Given the description of an element on the screen output the (x, y) to click on. 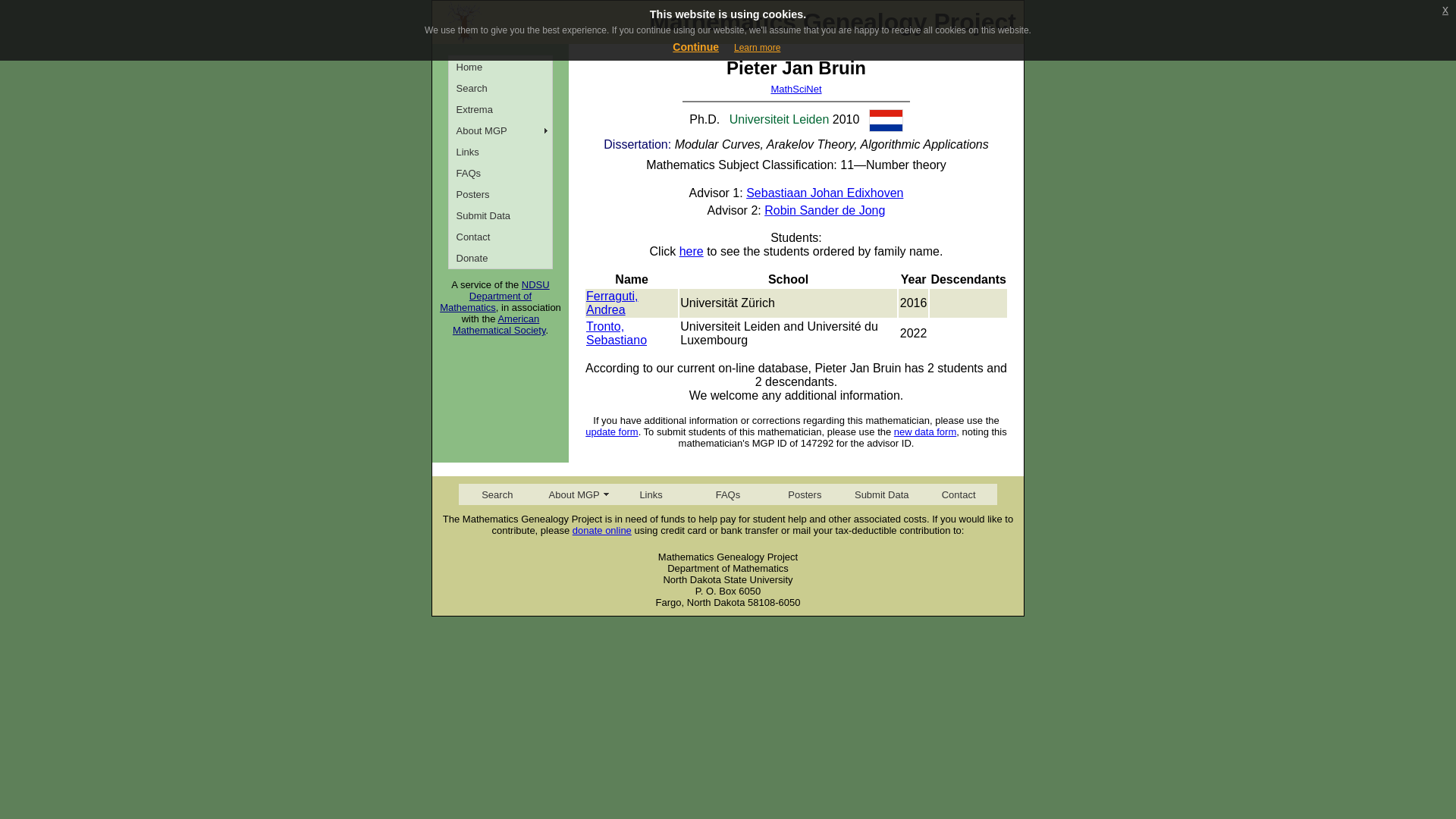
Tronto, Sebastiano (616, 333)
Netherlands (885, 119)
tree (463, 22)
Frequently Asked Questions (500, 172)
NDSU (535, 284)
Frequently Asked Questions (726, 494)
Ferraguti, Andrea (611, 302)
Posters (500, 193)
Department of Mathematics (485, 301)
Contact (500, 236)
Search (500, 87)
Submit Data (881, 494)
Home (500, 66)
Robin Sander de Jong (824, 210)
Links (500, 151)
